Given the description of an element on the screen output the (x, y) to click on. 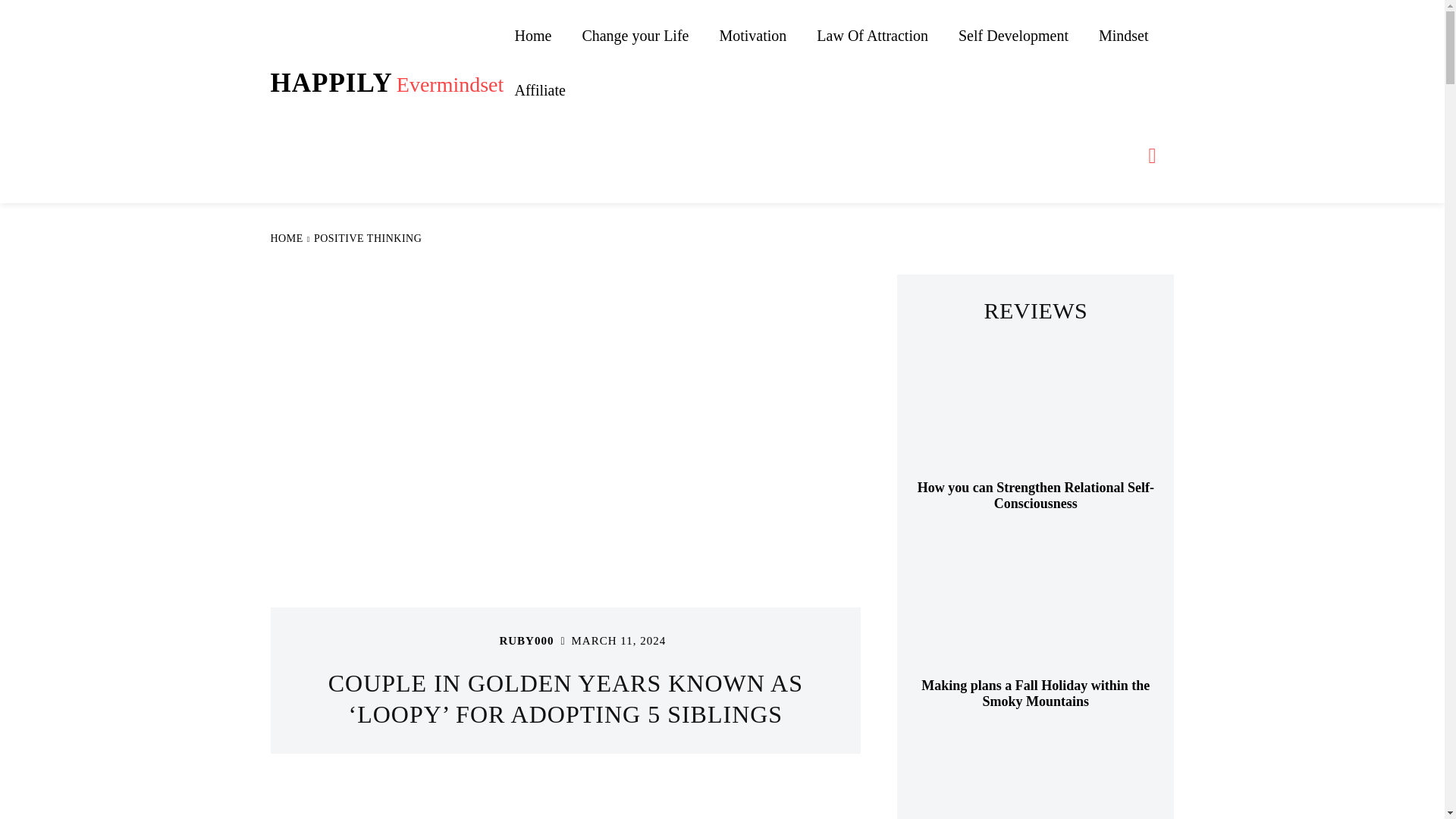
How you can Strengthen Relational Self-Consciousness (1035, 409)
Motivation (752, 35)
Ruby000 (479, 640)
Making plans a Fall Holiday within the Smoky Mountains (1035, 607)
Affiliate (539, 90)
Self Development (1013, 35)
View all posts in Positive Thinking (386, 83)
Change your Life (368, 238)
Law Of Attraction (634, 35)
